Given the description of an element on the screen output the (x, y) to click on. 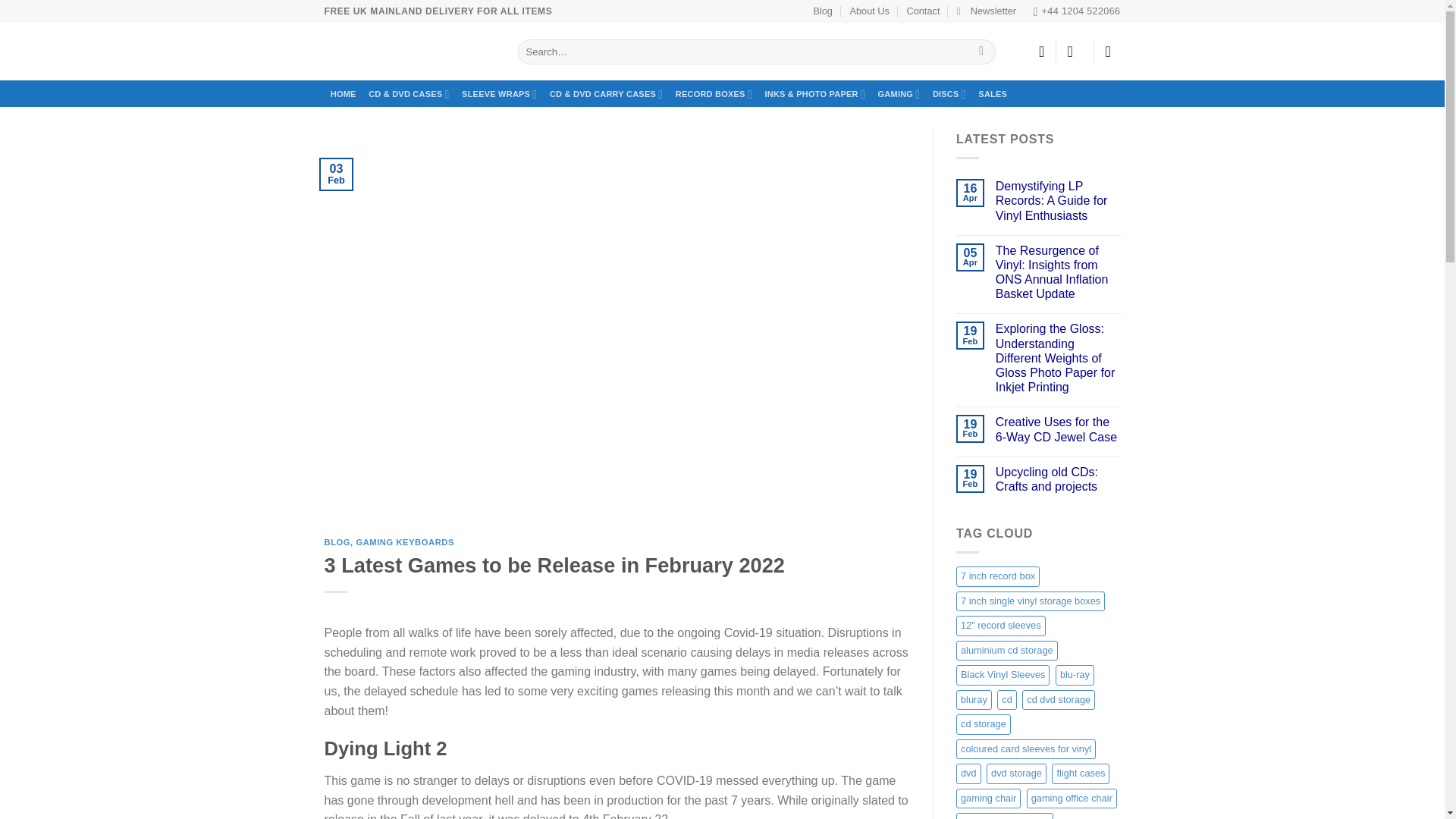
RECORD BOXES (713, 94)
HOME (343, 94)
About Us (868, 11)
Contact (922, 11)
SLEEVE WRAPS (499, 94)
Newsletter (986, 11)
Sign up for Newsletter (986, 11)
Search (981, 52)
